Given the description of an element on the screen output the (x, y) to click on. 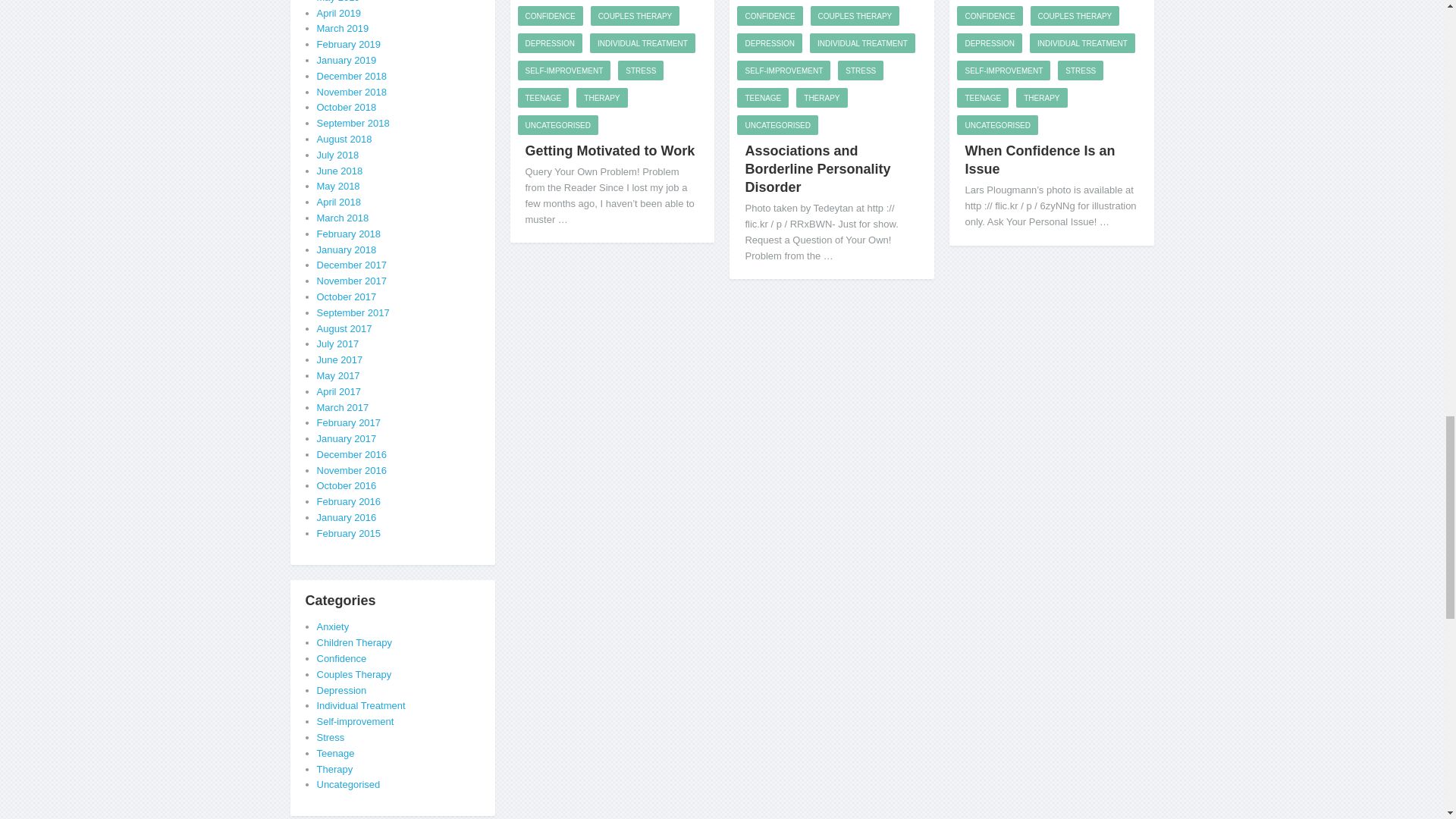
CONFIDENCE (549, 15)
THERAPY (601, 97)
TEENAGE (542, 97)
INDIVIDUAL TREATMENT (642, 43)
STRESS (640, 70)
COUPLES THERAPY (635, 15)
DEPRESSION (549, 43)
SELF-IMPROVEMENT (563, 70)
Getting Motivated to Work (609, 150)
UNCATEGORISED (557, 125)
